Given the description of an element on the screen output the (x, y) to click on. 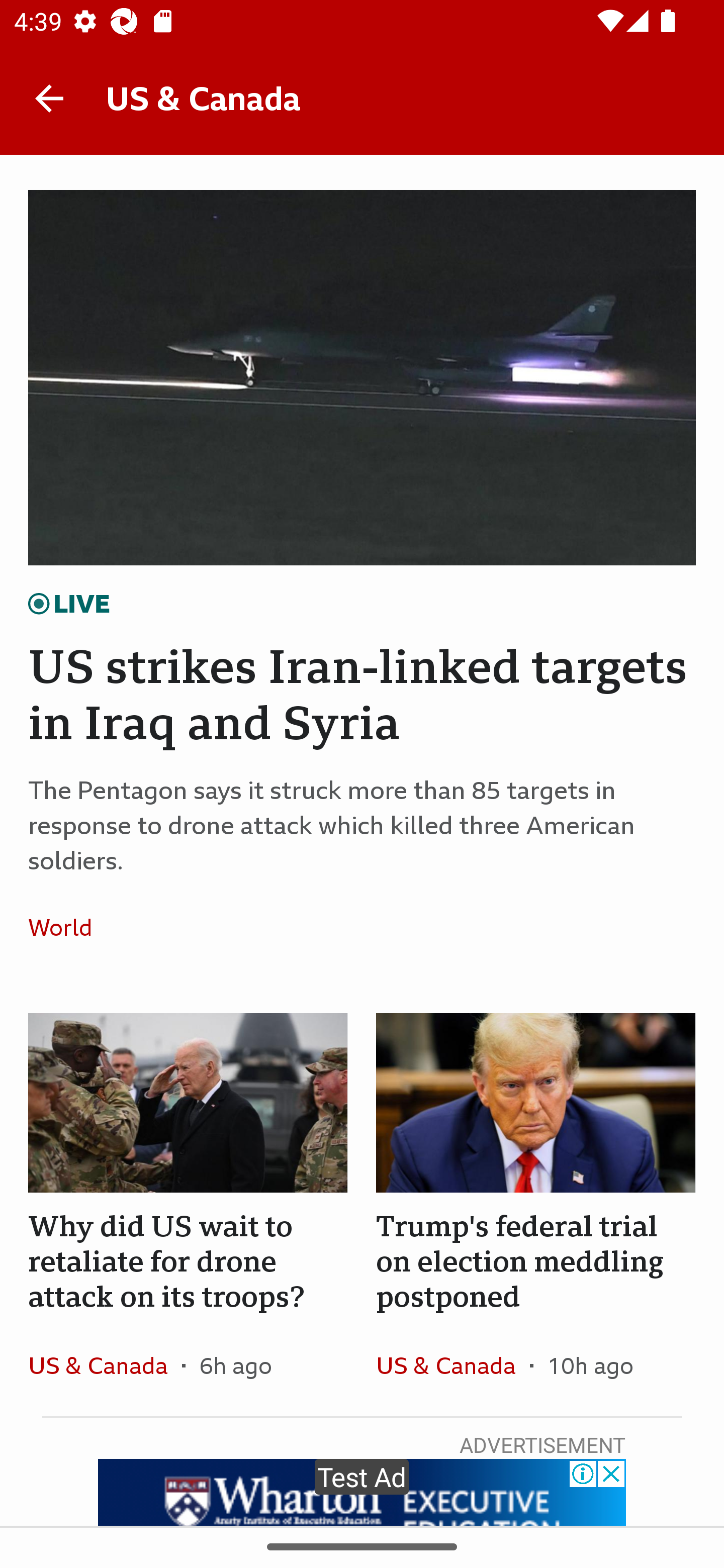
Back (49, 97)
World In the section World (67, 927)
US & Canada In the section US & Canada (104, 1364)
US & Canada In the section US & Canada (452, 1364)
